Given the description of an element on the screen output the (x, y) to click on. 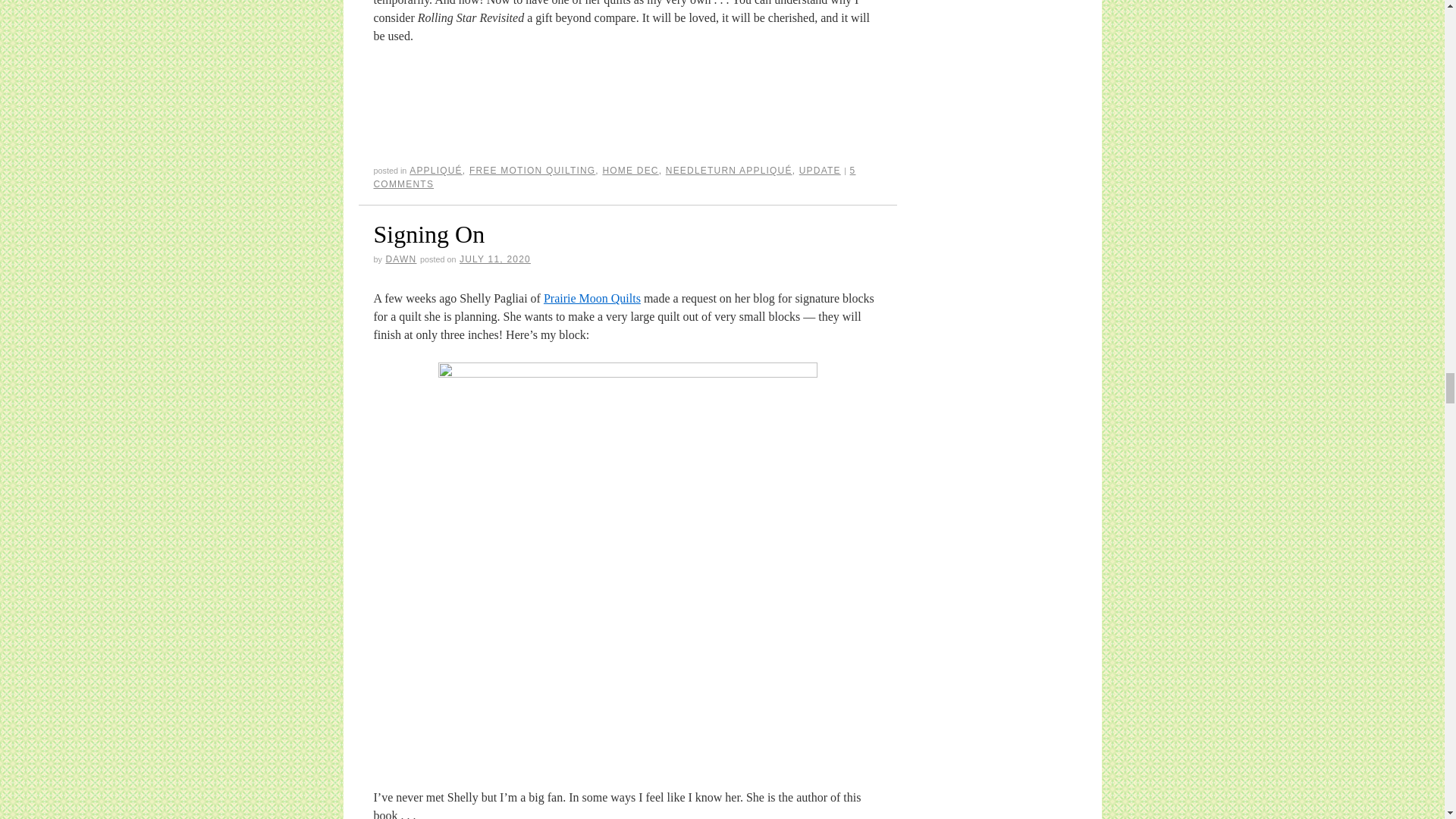
Permalink to Signing On (428, 234)
